Given the description of an element on the screen output the (x, y) to click on. 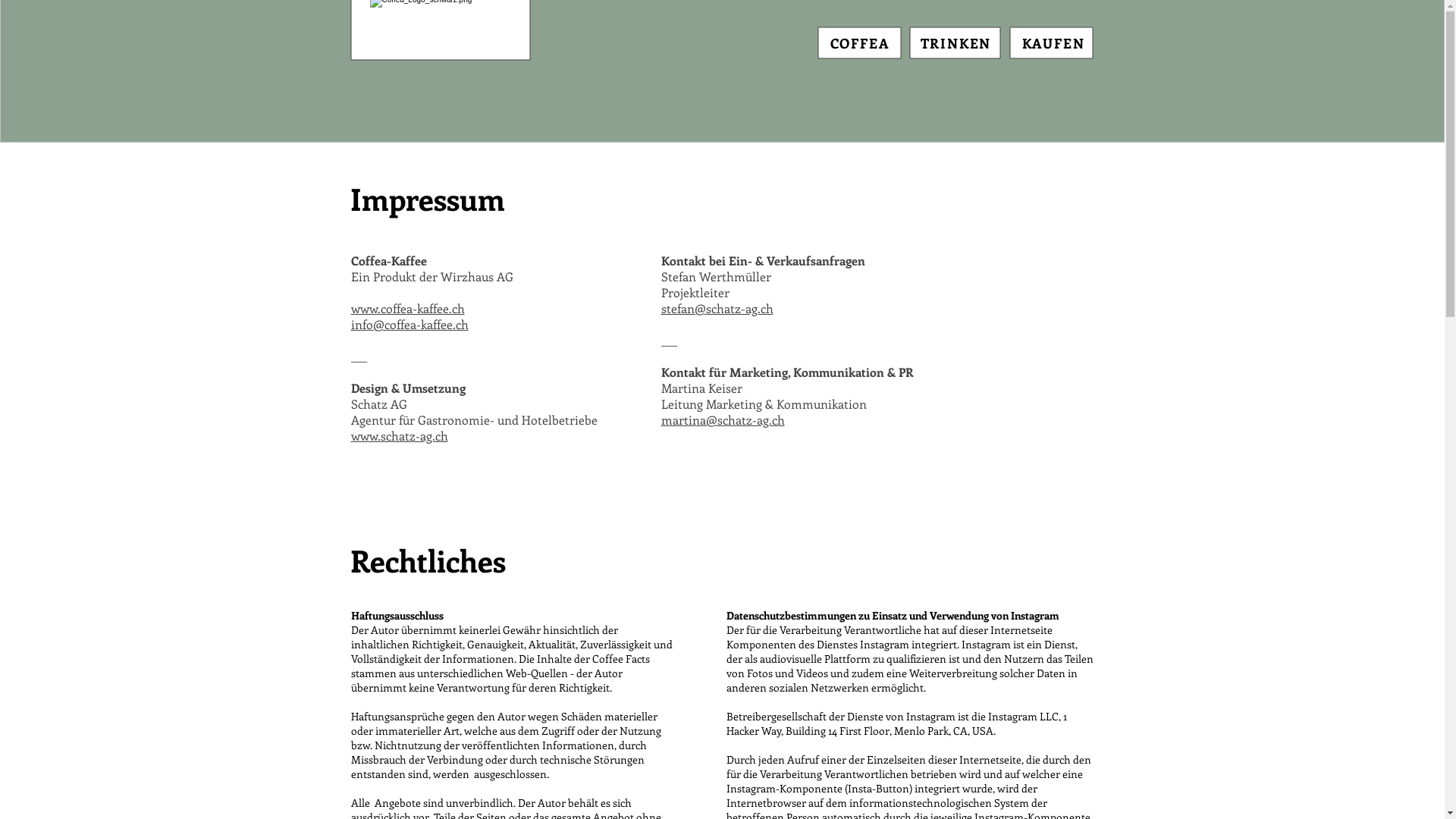
martina@schatz-ag.ch Element type: text (722, 419)
www.schatz-ag.ch Element type: text (398, 435)
stefan@schatz-ag.ch Element type: text (717, 308)
TRINKEN Element type: text (955, 43)
WISSEN Element type: text (805, 71)
info@coffea-kaffee.ch Element type: text (408, 324)
TRINKEN Element type: text (927, 70)
COFFEA Element type: text (858, 43)
KAUFEN Element type: text (1053, 43)
www.coffea-kaffee.ch Element type: text (407, 308)
KAUFEN Element type: text (1045, 71)
